Given the description of an element on the screen output the (x, y) to click on. 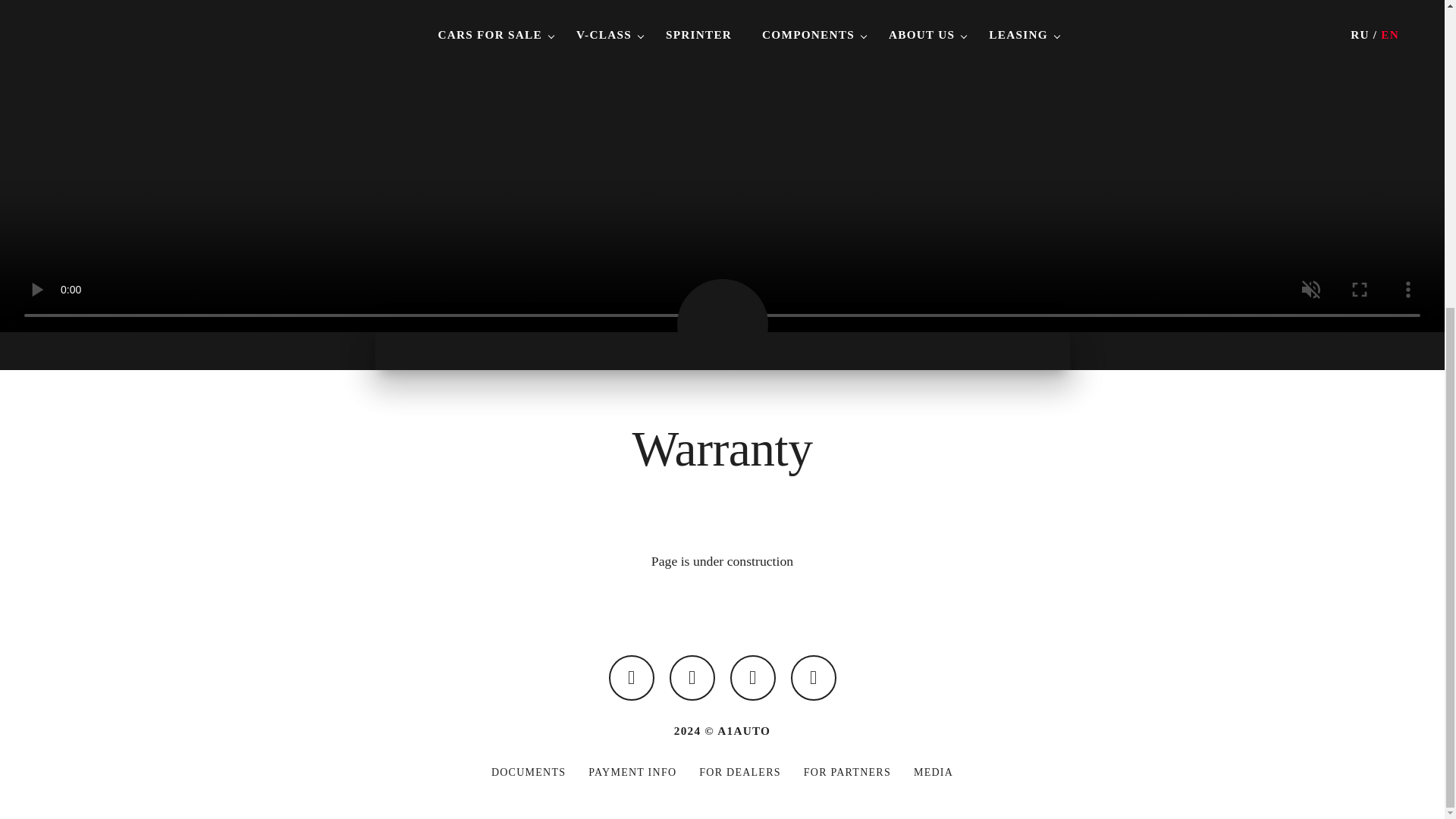
Follow us on Telegram (751, 678)
Follow us on VK (630, 678)
Follow us on Youtube (812, 678)
MEDIA (933, 772)
FOR PARTNERS (847, 772)
Follow us on Pinterest (691, 678)
PAYMENT INFO (632, 772)
DOCUMENTS (529, 772)
FOR DEALERS (739, 772)
